Given the description of an element on the screen output the (x, y) to click on. 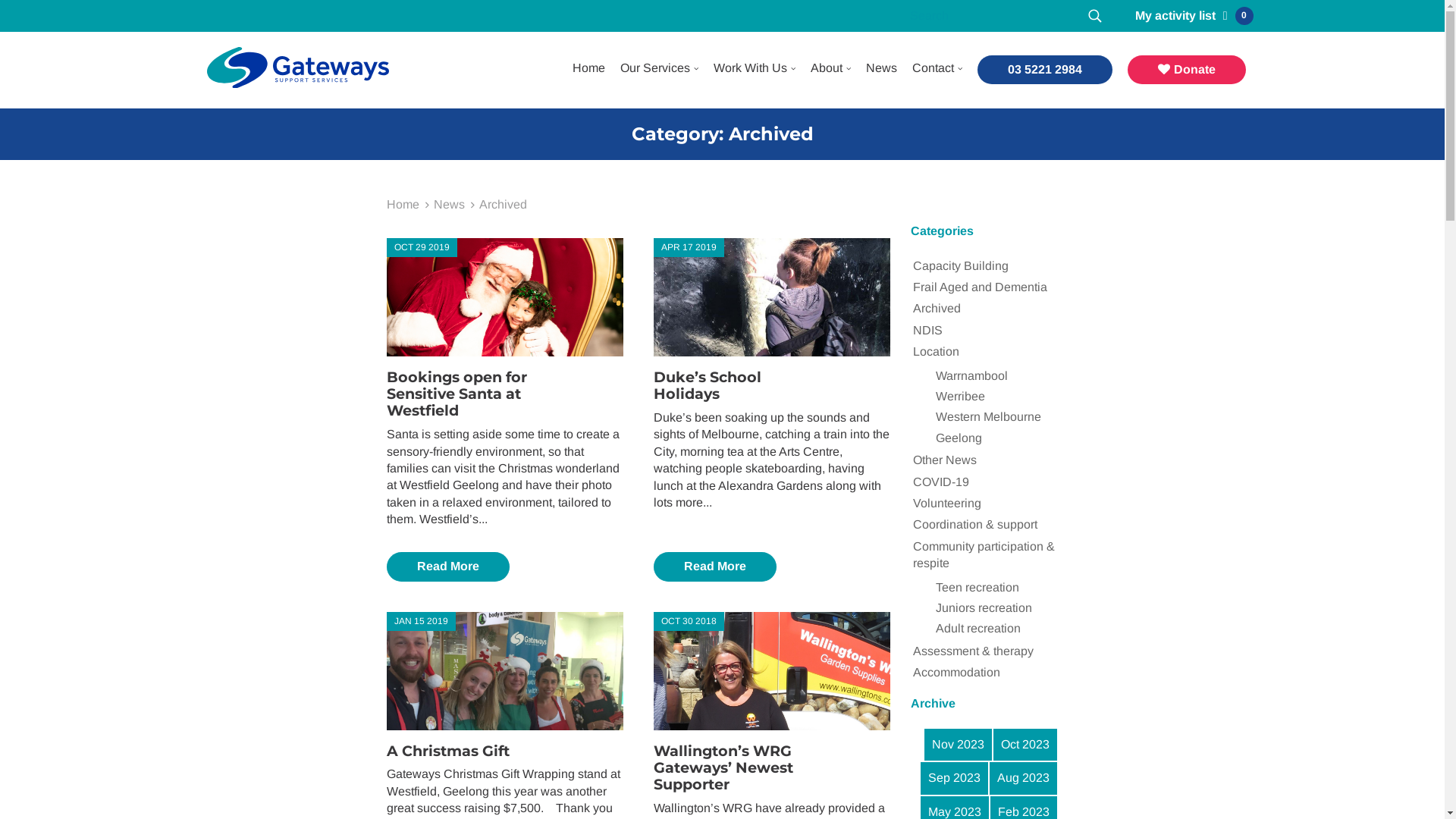
Donate Element type: text (1185, 69)
Juniors recreation Element type: text (983, 608)
0 Element type: text (1234, 15)
Community participation & respite Element type: text (984, 555)
A Christmas Gift Element type: text (447, 750)
News Element type: text (881, 67)
Accommodation Element type: text (956, 672)
Werribee Element type: text (960, 396)
Nov 2023 Element type: text (957, 744)
Capacity Building Element type: text (960, 266)
Warrnambool Element type: text (971, 375)
Home Element type: text (587, 67)
Frail Aged and Dementia Element type: text (979, 287)
Read More Element type: text (714, 566)
COVID-19 Element type: text (940, 482)
Volunteering Element type: text (946, 503)
Home Element type: text (402, 203)
Adult recreation Element type: text (978, 628)
03 5221 2984 Element type: text (1043, 69)
My activity list Element type: text (1175, 15)
Search for: Element type: hover (992, 15)
Oct 2023 Element type: text (1025, 744)
Archived Element type: text (936, 308)
Bookings open for Sensitive Santa at Westfield Element type: text (456, 393)
About Element type: text (825, 67)
Western Melbourne Element type: text (988, 416)
Teen recreation Element type: text (977, 587)
Our Services Element type: text (655, 67)
Sep 2023 Element type: text (954, 777)
Contact Element type: text (932, 67)
Work With Us Element type: text (749, 67)
Coordination & support Element type: text (974, 524)
Assessment & therapy Element type: text (973, 651)
NDIS Element type: text (927, 330)
News Element type: text (448, 203)
Other News Element type: text (944, 460)
Location Element type: text (935, 351)
Geelong Element type: text (958, 438)
Read More Element type: text (447, 566)
Aug 2023 Element type: text (1023, 777)
